Given the description of an element on the screen output the (x, y) to click on. 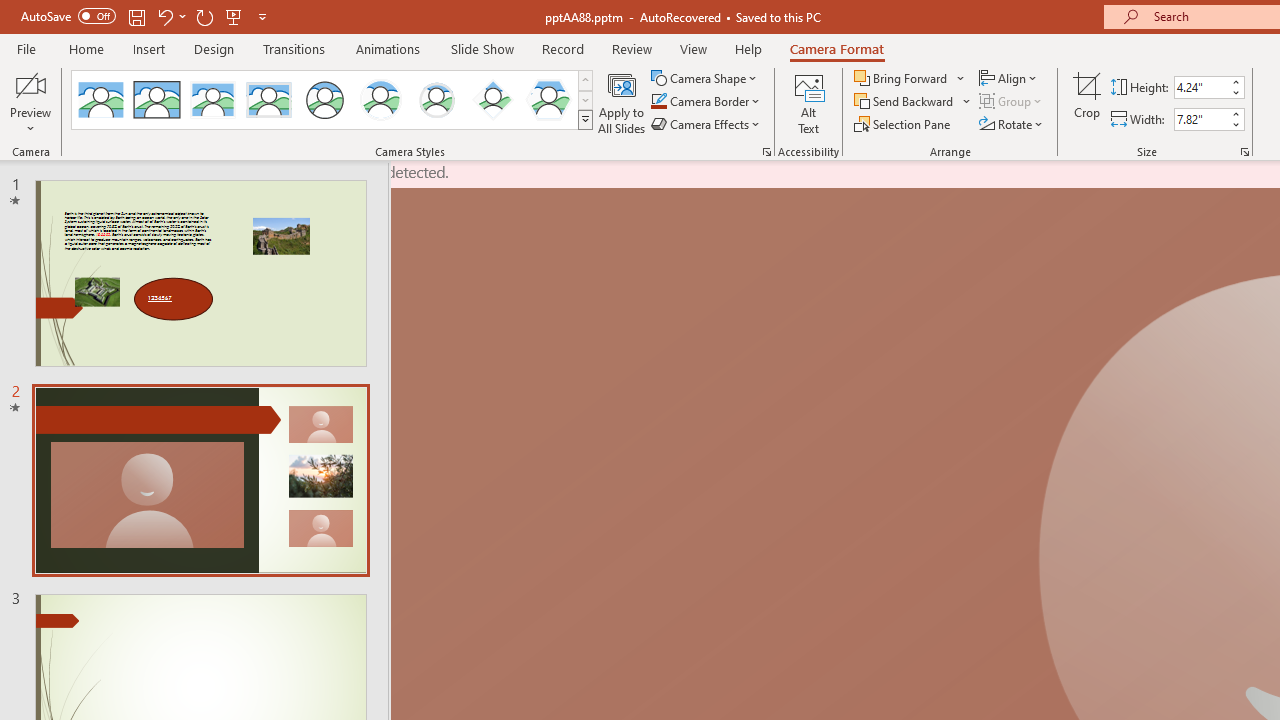
AutomationID: CameoStylesGallery (333, 99)
Simple Frame Circle (324, 100)
Group (1012, 101)
Center Shadow Diamond (492, 100)
Bring Forward (910, 78)
No Style (100, 100)
Rotate (1012, 124)
